Given the description of an element on the screen output the (x, y) to click on. 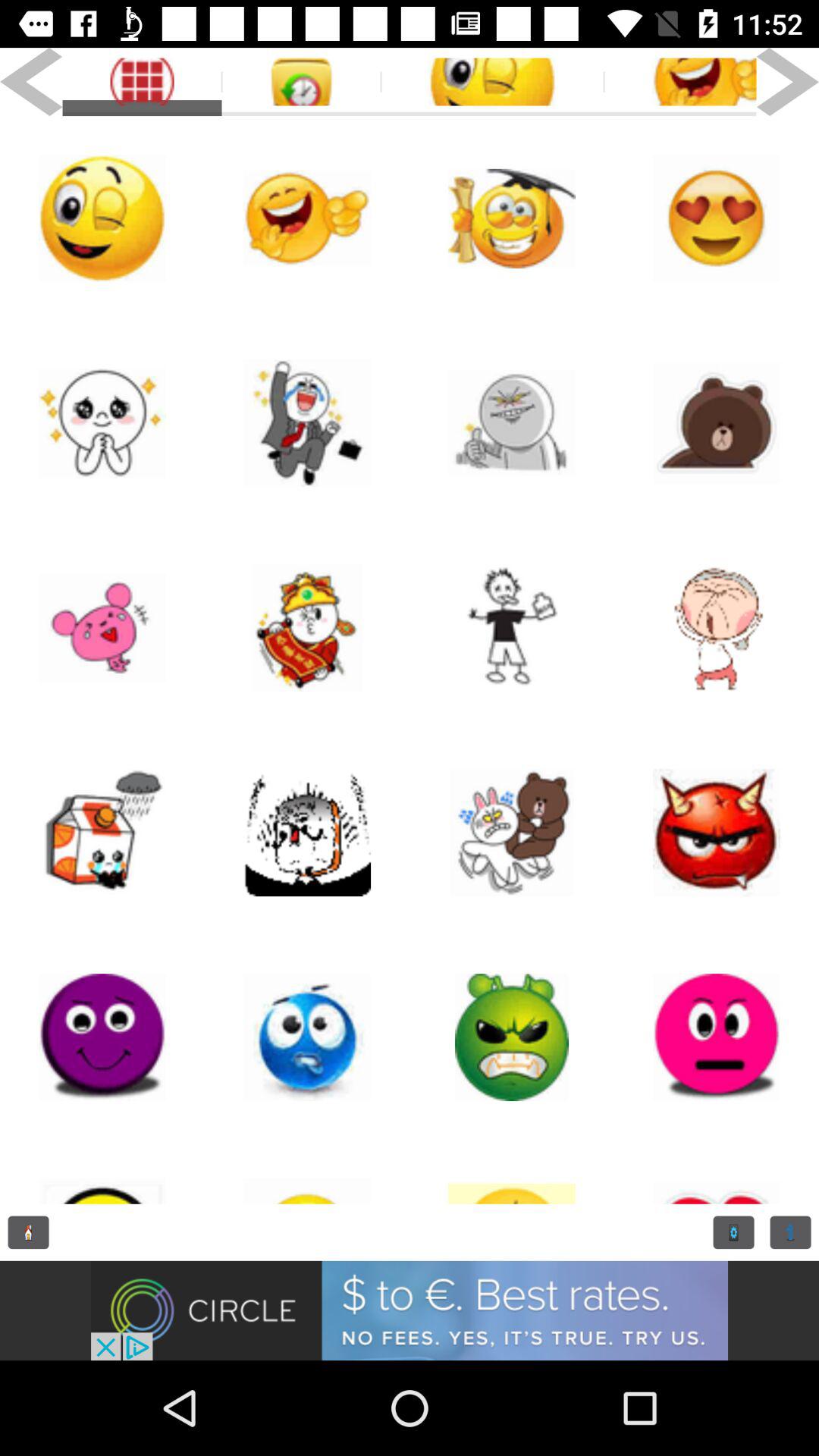
smiley option (716, 627)
